Given the description of an element on the screen output the (x, y) to click on. 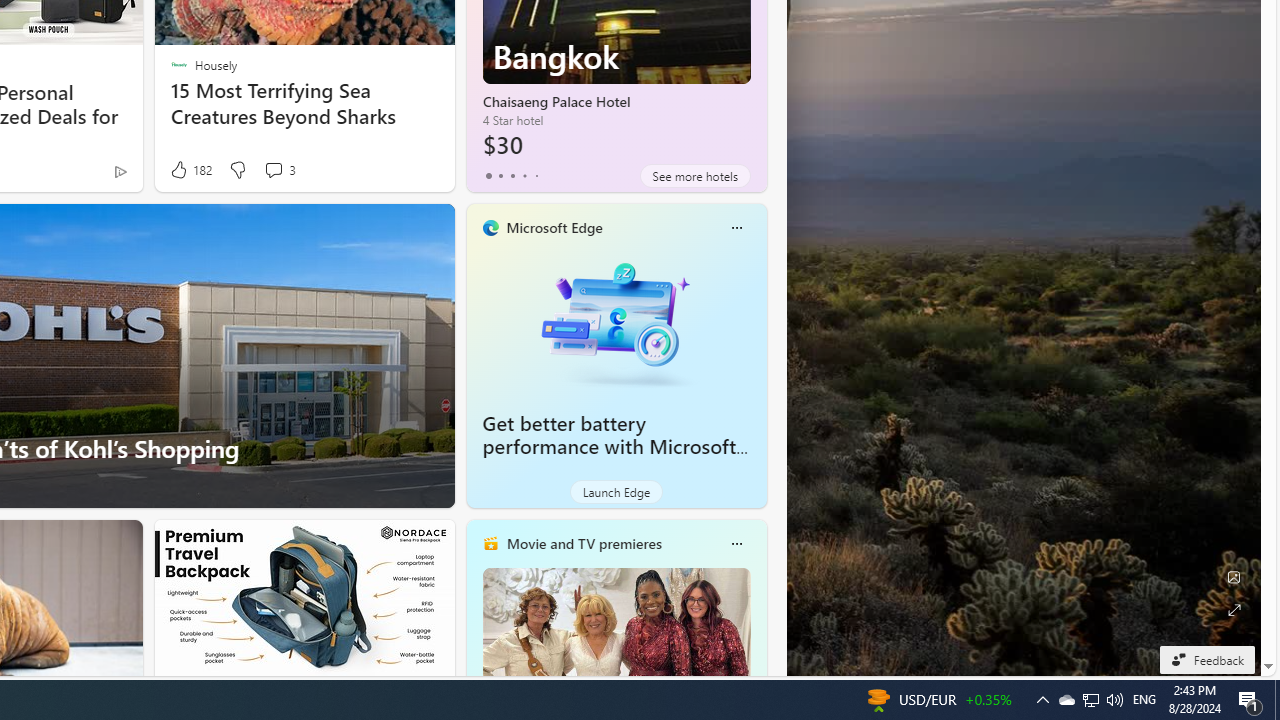
View comments 3 Comment (273, 169)
Movie and TV premieres (583, 543)
Dislike (237, 170)
Get better battery performance with Microsoft Edge (609, 446)
tab-2 (511, 175)
See more hotels (694, 175)
Edit Background (1233, 577)
Expand background (1233, 610)
tab-0 (488, 175)
View comments 3 Comment (279, 170)
182 Like (190, 170)
Launch Edge (616, 491)
